Given the description of an element on the screen output the (x, y) to click on. 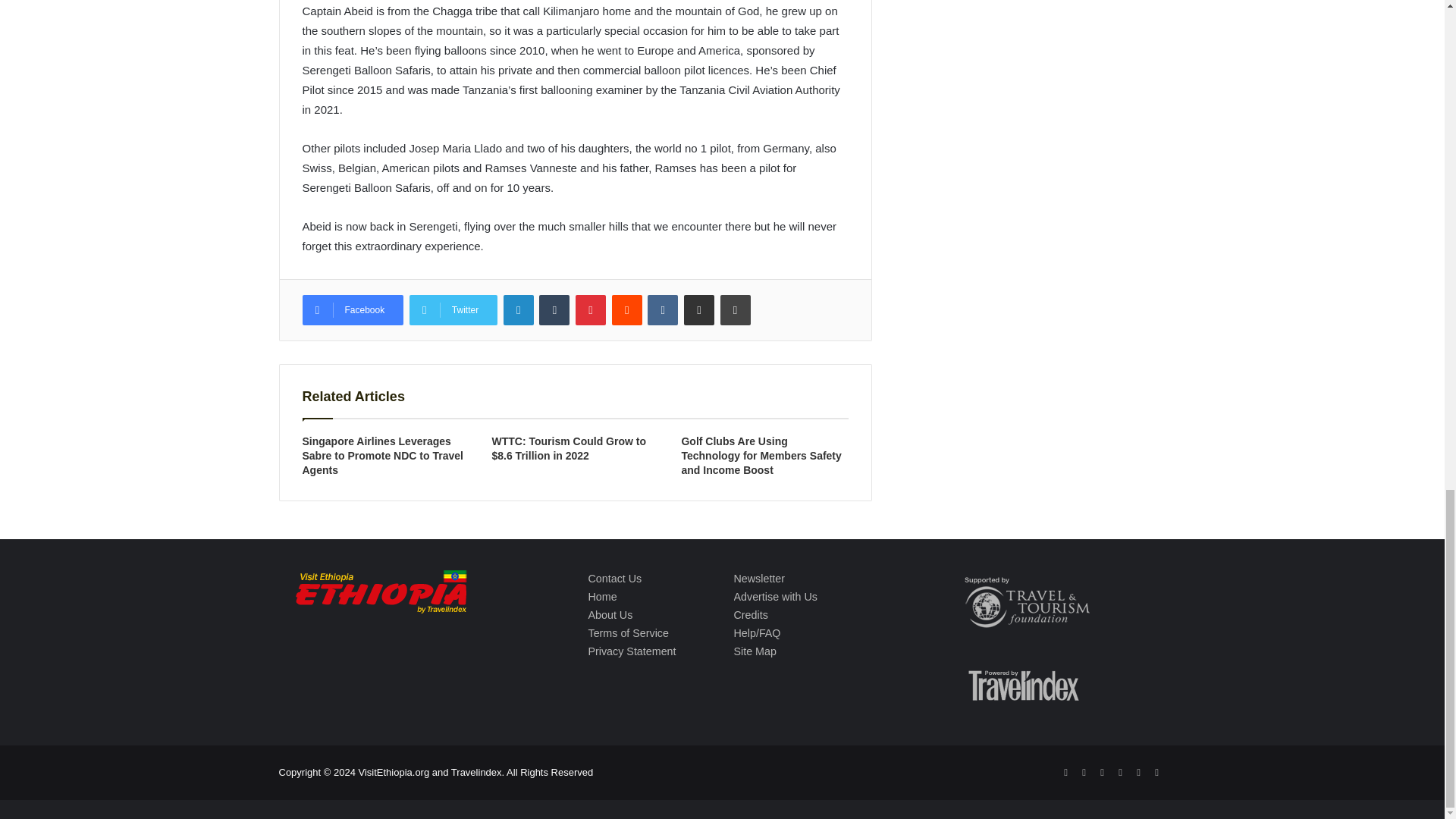
Share via Email (699, 309)
Pinterest (590, 309)
Print (735, 309)
Facebook (352, 309)
Tumblr (553, 309)
VKontakte (662, 309)
Reddit (626, 309)
Twitter (453, 309)
LinkedIn (518, 309)
